Given the description of an element on the screen output the (x, y) to click on. 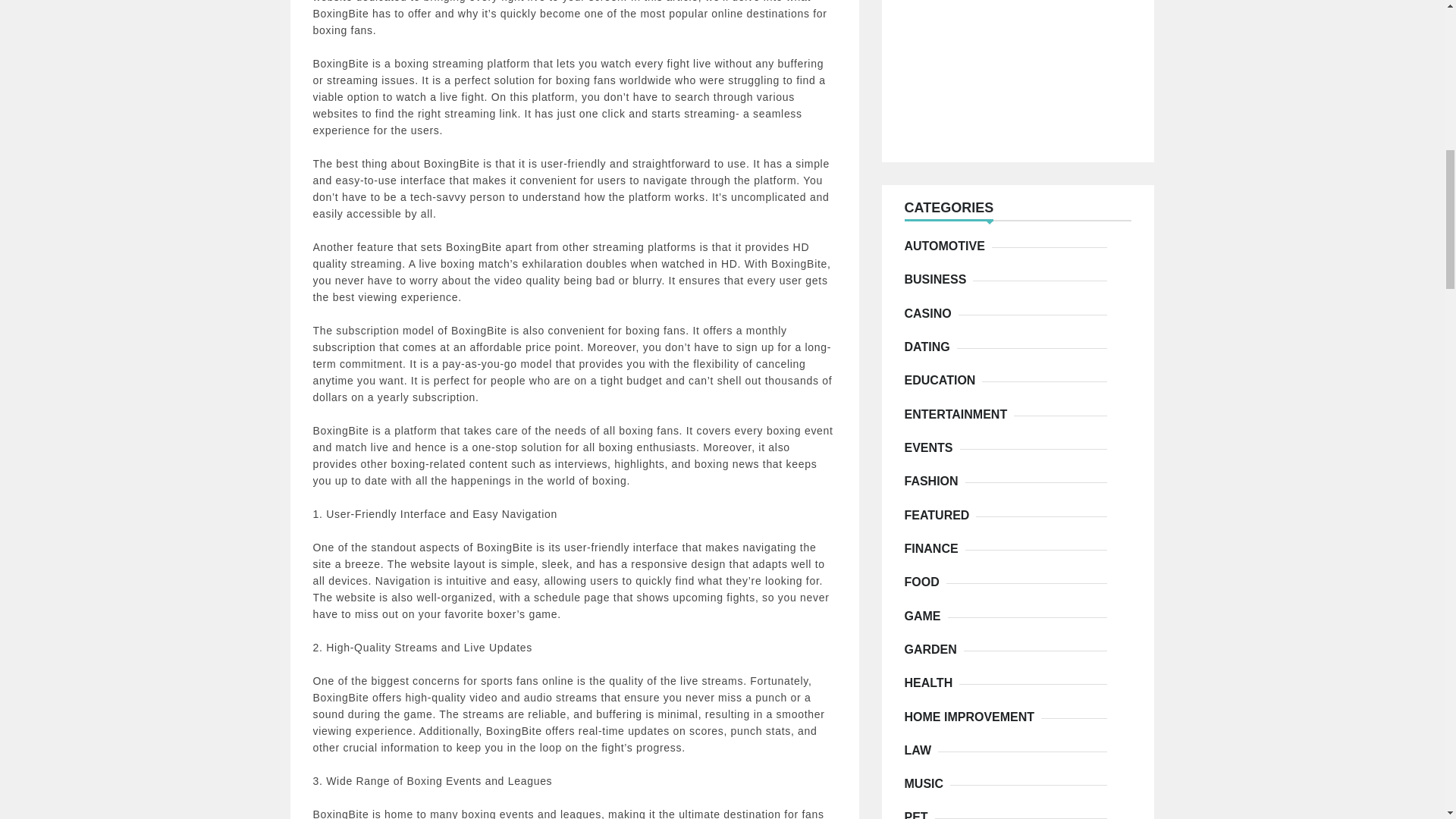
GARDEN (933, 649)
ENTERTAINMENT (958, 414)
CASINO (931, 313)
FOOD (924, 581)
FASHION (933, 481)
LAW (920, 750)
FINANCE (933, 548)
GAME (925, 616)
AUTOMOTIVE (947, 246)
HOME IMPROVEMENT (972, 717)
